Given the description of an element on the screen output the (x, y) to click on. 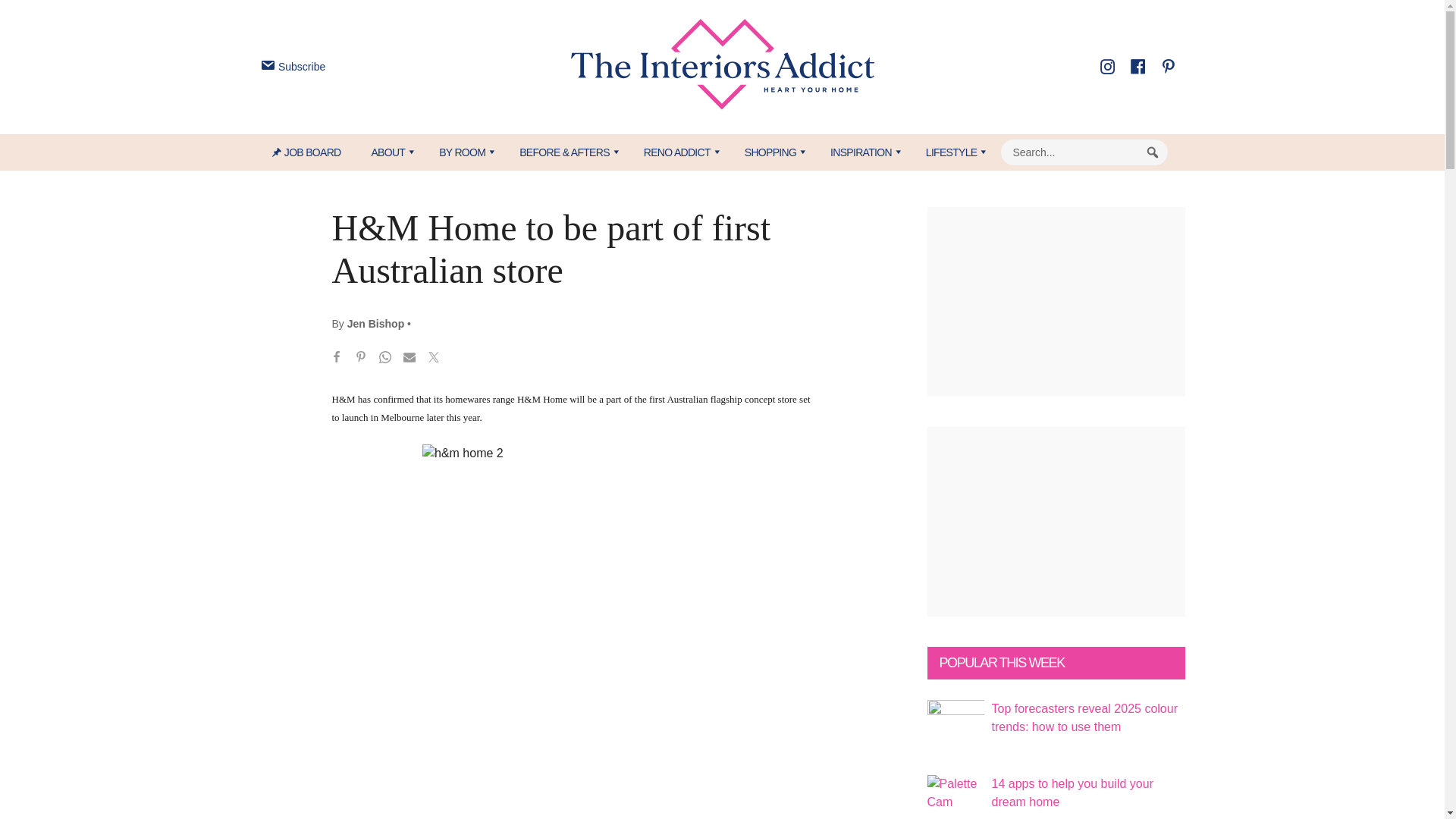
Share via Email (409, 359)
Share on Twitter (433, 359)
BY ROOM (463, 152)
ABOUT (389, 152)
JOB BOARD (313, 152)
Subscribe (291, 66)
Share on Facebook (336, 359)
Search (1152, 151)
YES PLEASE! (793, 294)
Share on Pinterest (360, 359)
